Given the description of an element on the screen output the (x, y) to click on. 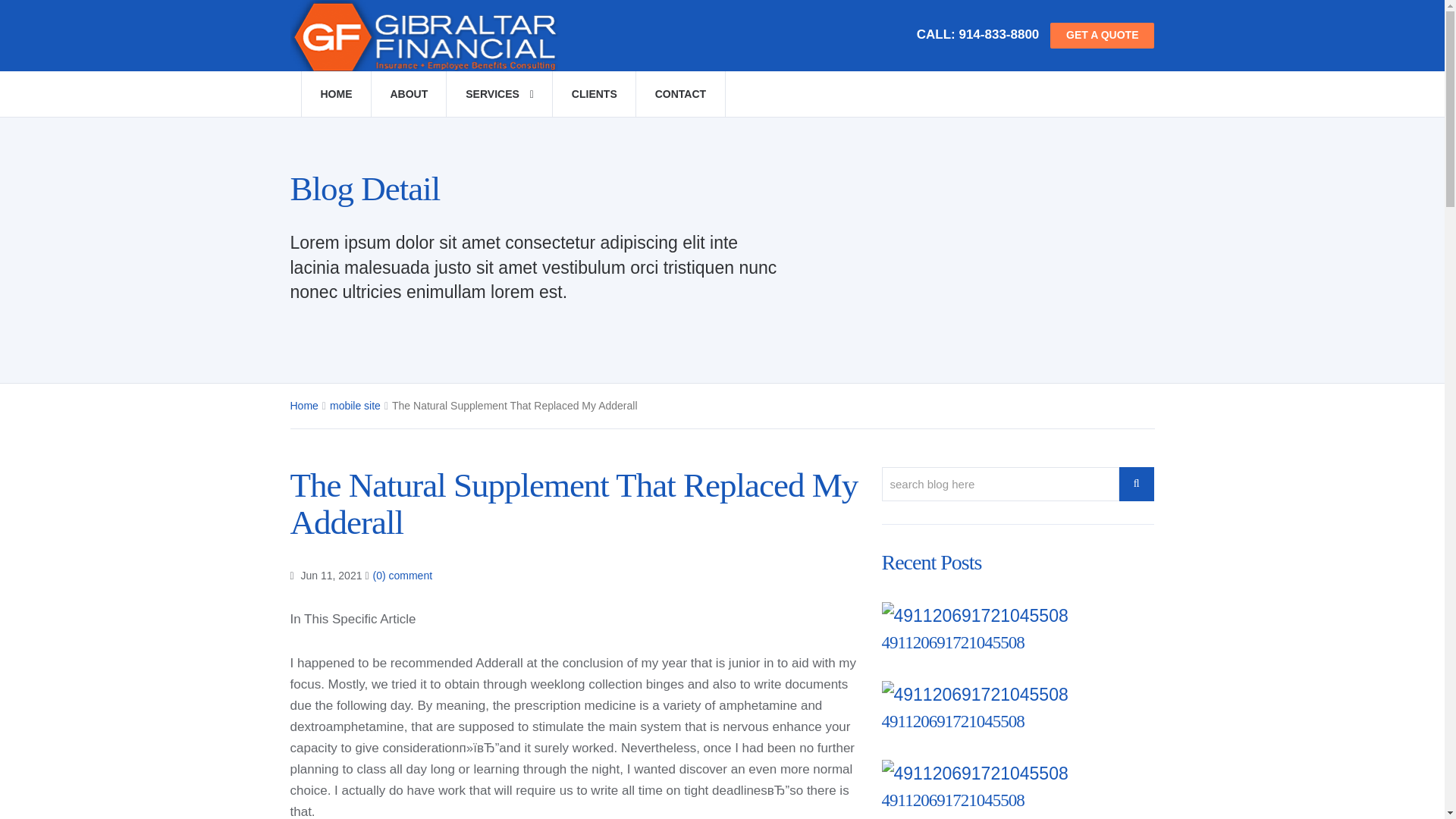
HOME (335, 94)
GET A QUOTE (1101, 35)
491120691721045508 (951, 721)
Home (335, 94)
CLIENTS (593, 94)
About (407, 94)
491120691721045508 (951, 721)
mobile site (355, 405)
491120691721045508 (951, 800)
491120691721045508 (951, 642)
Home (303, 405)
ABOUT (407, 94)
services (499, 94)
Get A Quote (1101, 35)
491120691721045508 (951, 642)
